Given the description of an element on the screen output the (x, y) to click on. 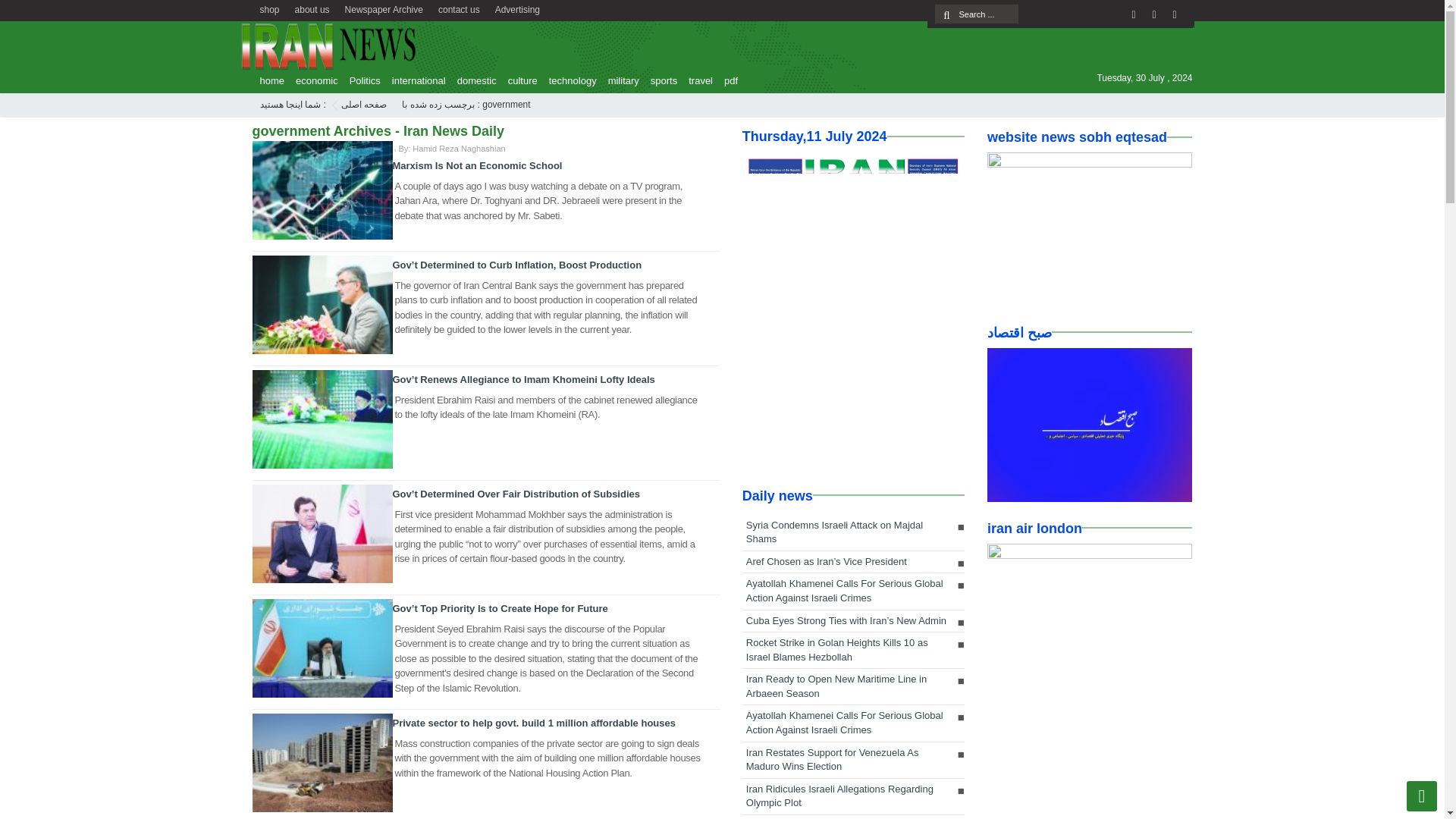
domestic (472, 80)
contact us (458, 7)
military (619, 80)
technology (568, 80)
international (414, 80)
Advertising (517, 7)
culture (518, 80)
Newspaper Archive (383, 7)
sports (660, 80)
home (267, 80)
Marxism Is Not an Economic School (477, 165)
Politics (361, 80)
economic (312, 80)
pdf (727, 80)
Iran News Daily (363, 104)
